Given the description of an element on the screen output the (x, y) to click on. 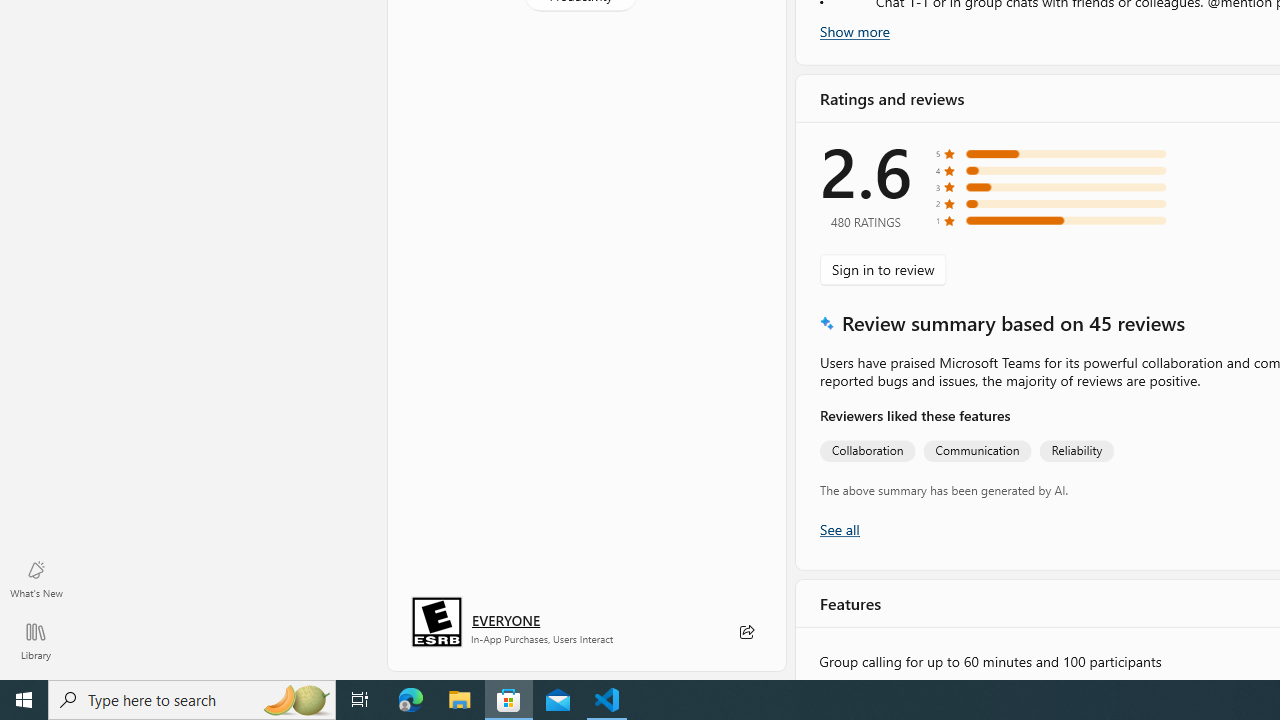
Show more (854, 31)
Age rating: EVERYONE. Click for more information. (506, 619)
Show all ratings and reviews (838, 529)
Share (746, 632)
Sign in to review (882, 269)
